Given the description of an element on the screen output the (x, y) to click on. 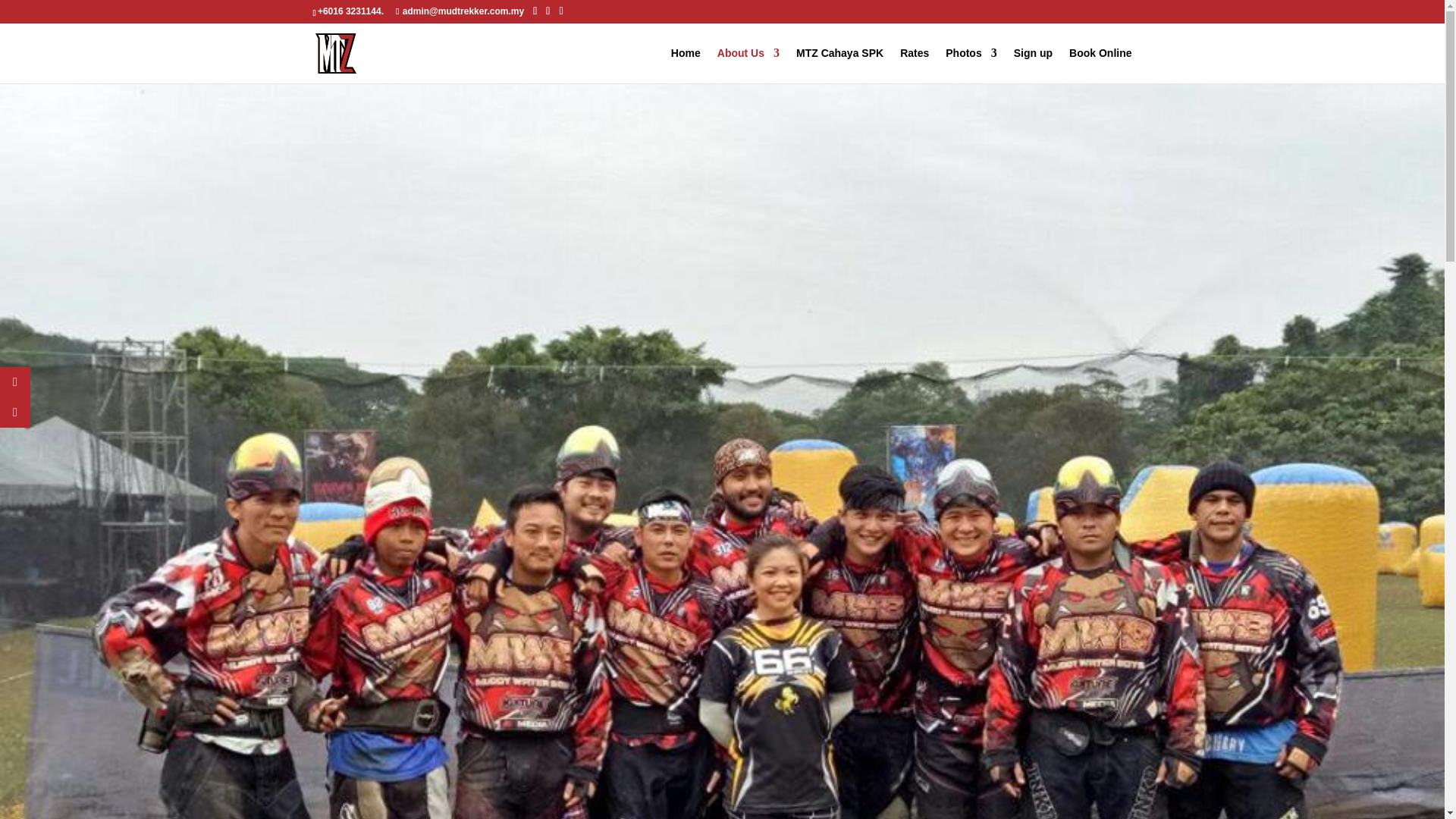
About Us (747, 65)
Photos (969, 65)
Sign up (1032, 65)
MTZ Cahaya SPK (839, 65)
Book Online (1099, 65)
